Given the description of an element on the screen output the (x, y) to click on. 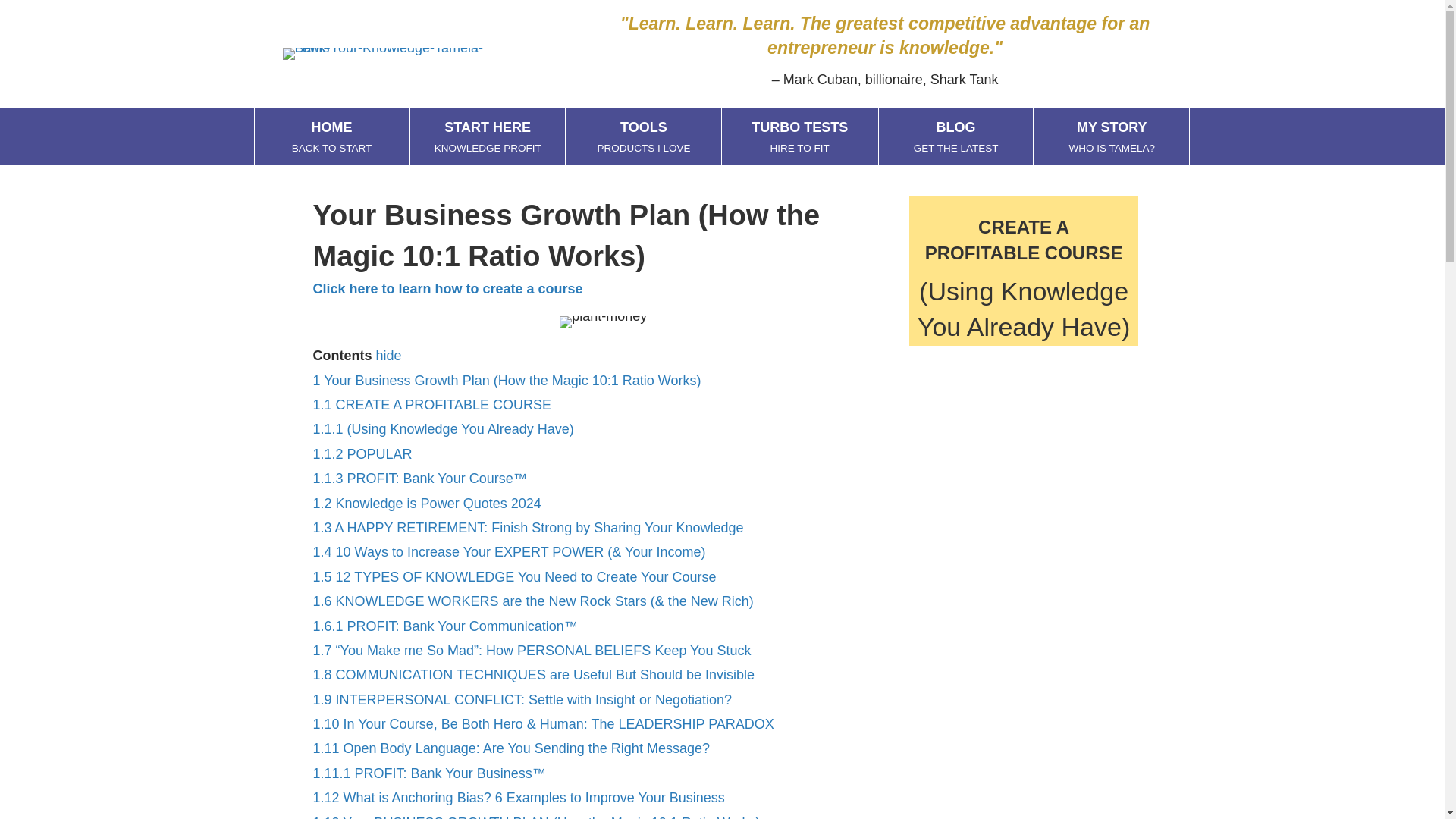
Click here to learn how to create a course (1111, 136)
1.2 Knowledge is Power Quotes 2024 (447, 288)
hide (426, 503)
1.5 12 TYPES OF KNOWLEDGE You Need to Create Your Course (799, 136)
1.11 Open Body Language: Are You Sending the Right Message? (643, 136)
1.1 CREATE A PROFITABLE COURSE (331, 136)
Bank-Your-Knowledge-Tamela-Lewis (388, 355)
